Given the description of an element on the screen output the (x, y) to click on. 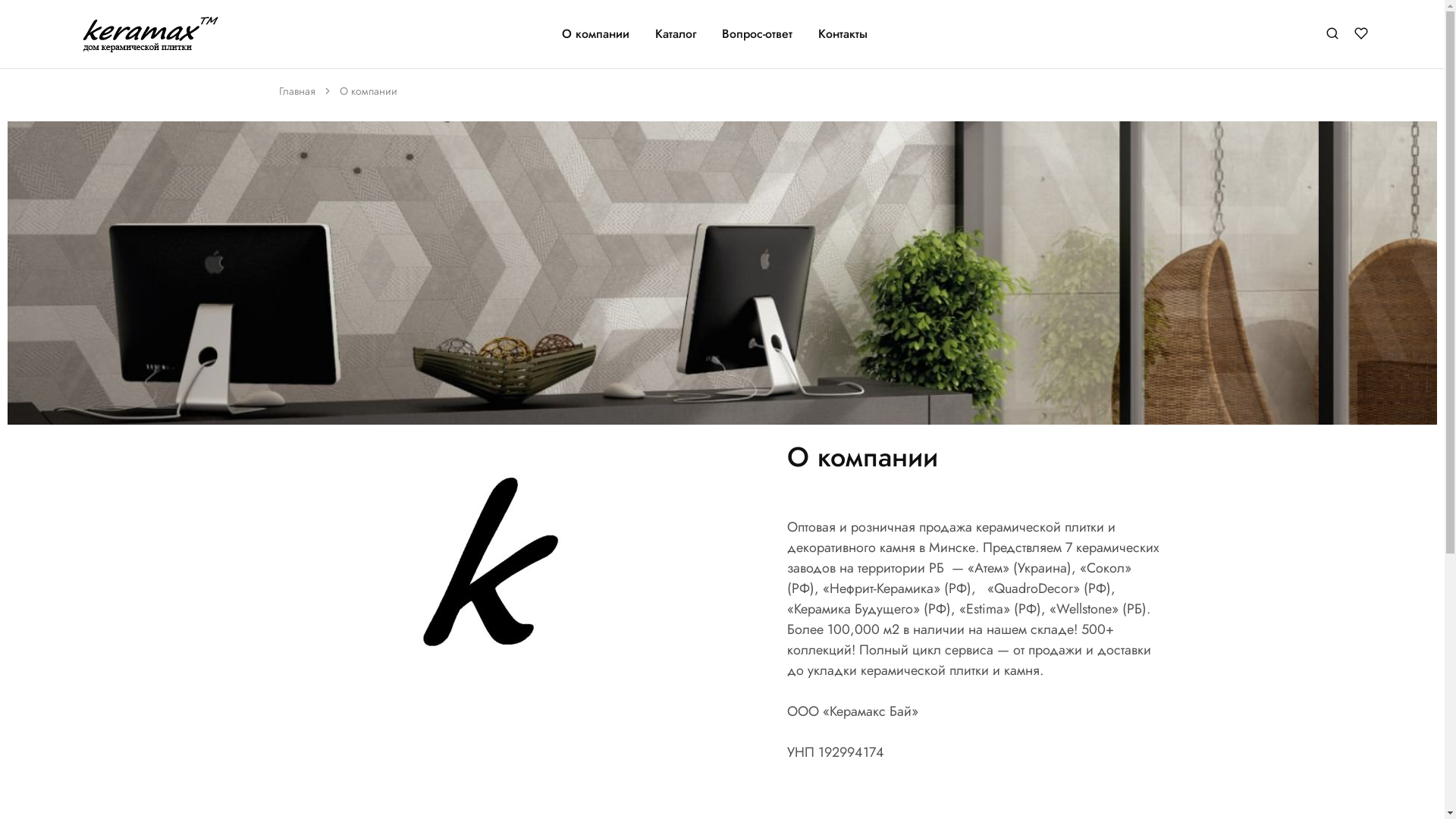
keramax Element type: text (96, 38)
